Given the description of an element on the screen output the (x, y) to click on. 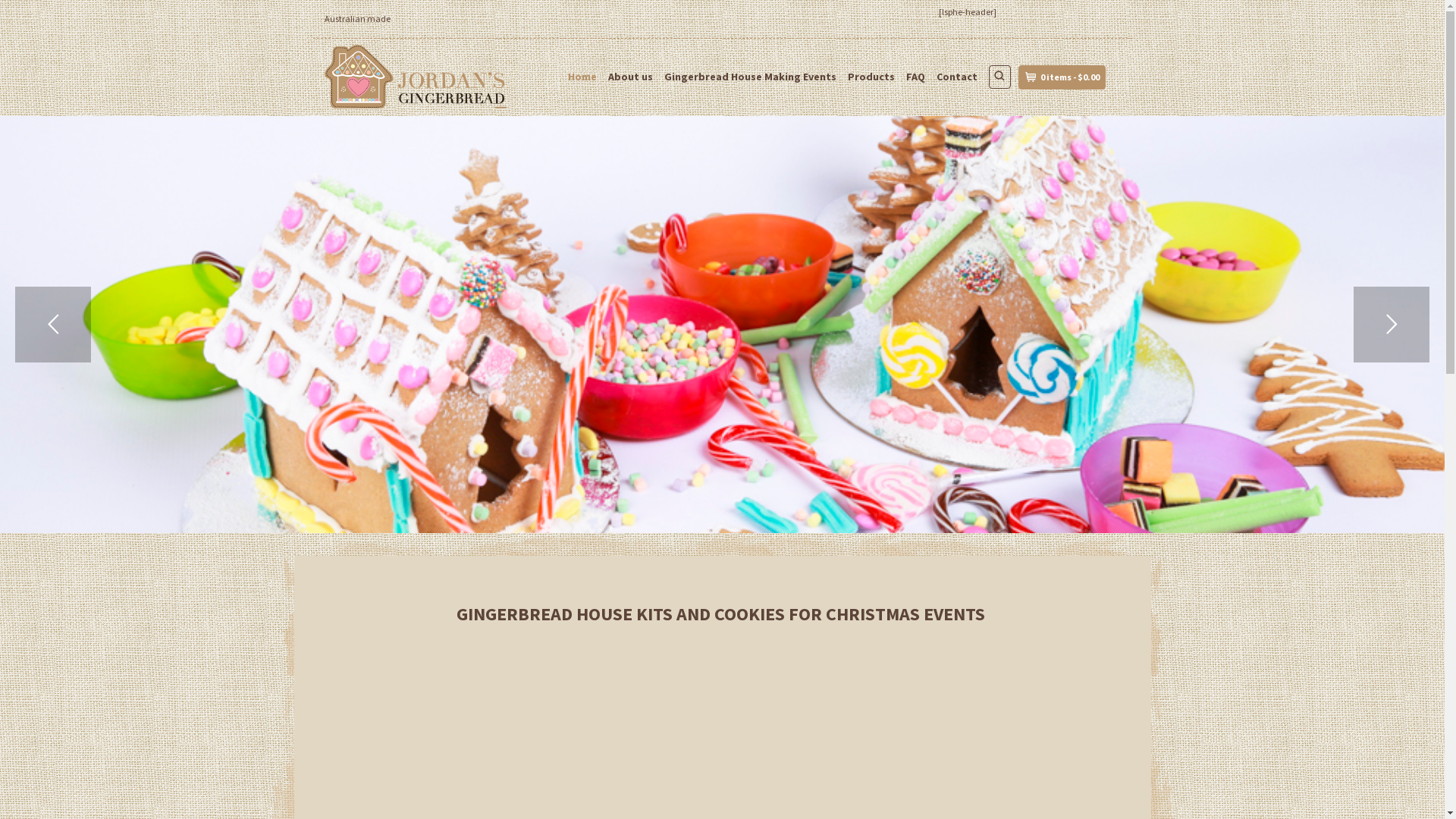
Gingerbread House Making Events Element type: text (750, 76)
Home Element type: text (581, 76)
Contact Element type: text (955, 76)
About us Element type: text (630, 76)
Products Element type: text (870, 76)
FAQ Element type: text (914, 76)
0 items - $0.00 Element type: text (1060, 77)
